Given the description of an element on the screen output the (x, y) to click on. 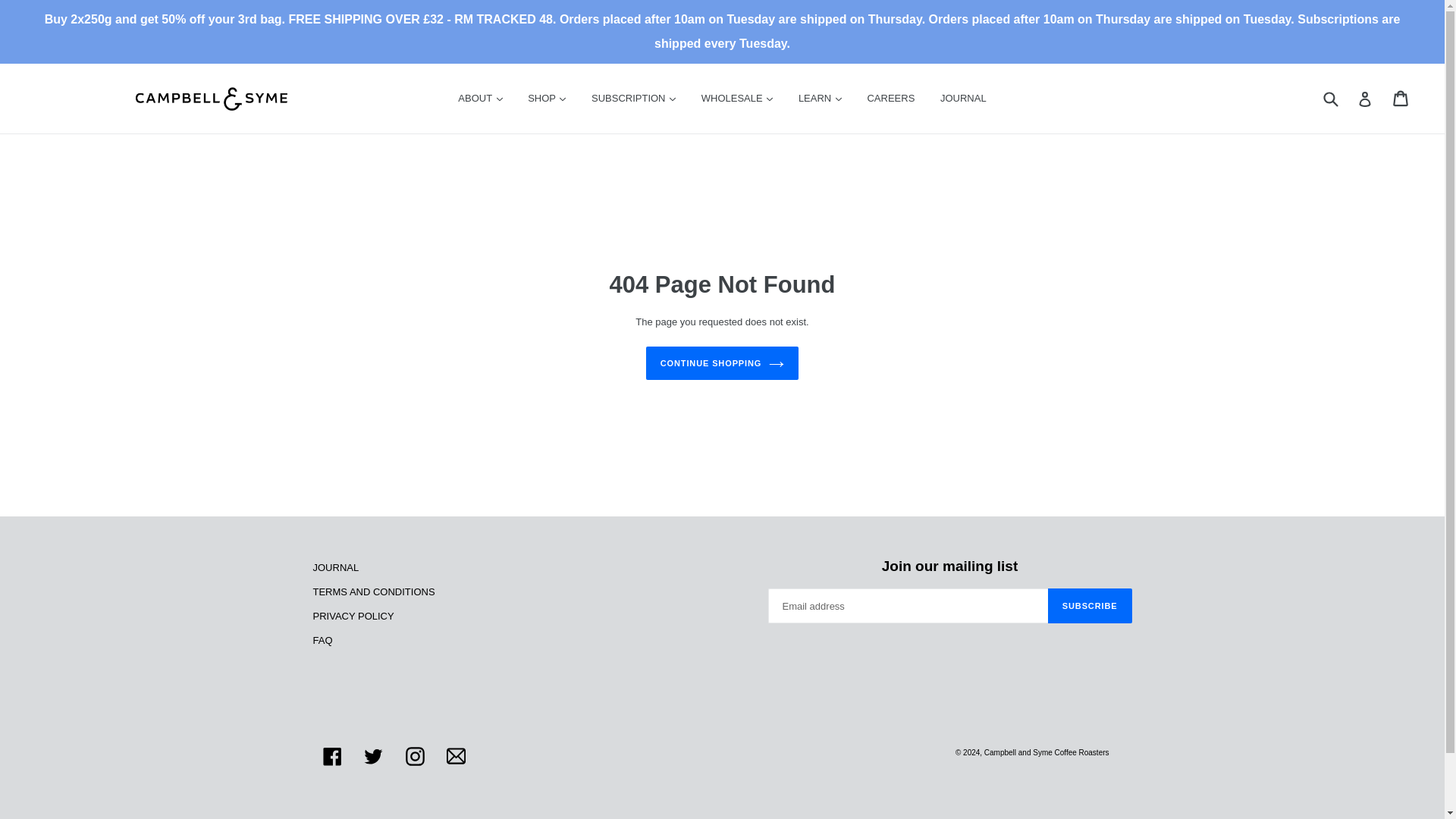
Campbell and Syme Coffee Roasters on Facebook (332, 755)
Campbell and Syme Coffee Roasters on Instagram (414, 755)
Campbell and Syme Coffee Roasters on Twitter (373, 755)
Campbell and Syme Coffee Roasters on Tumblr (456, 755)
